Given the description of an element on the screen output the (x, y) to click on. 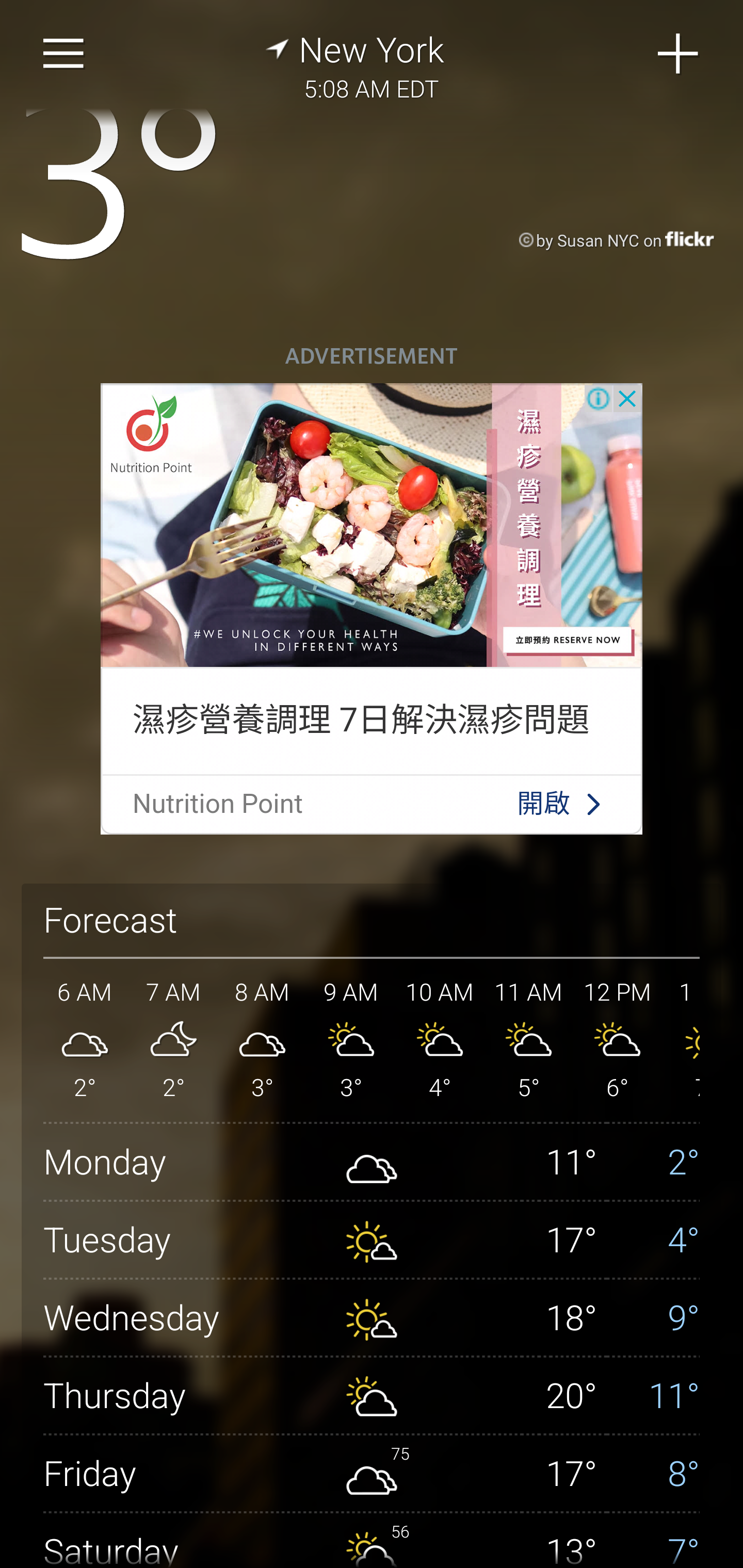
Sidebar (64, 54)
Add City (678, 53)
濕疹營養調理 7日解決濕疹問題 (359, 719)
Nutrition Point (217, 804)
開啟 (543, 804)
